Given the description of an element on the screen output the (x, y) to click on. 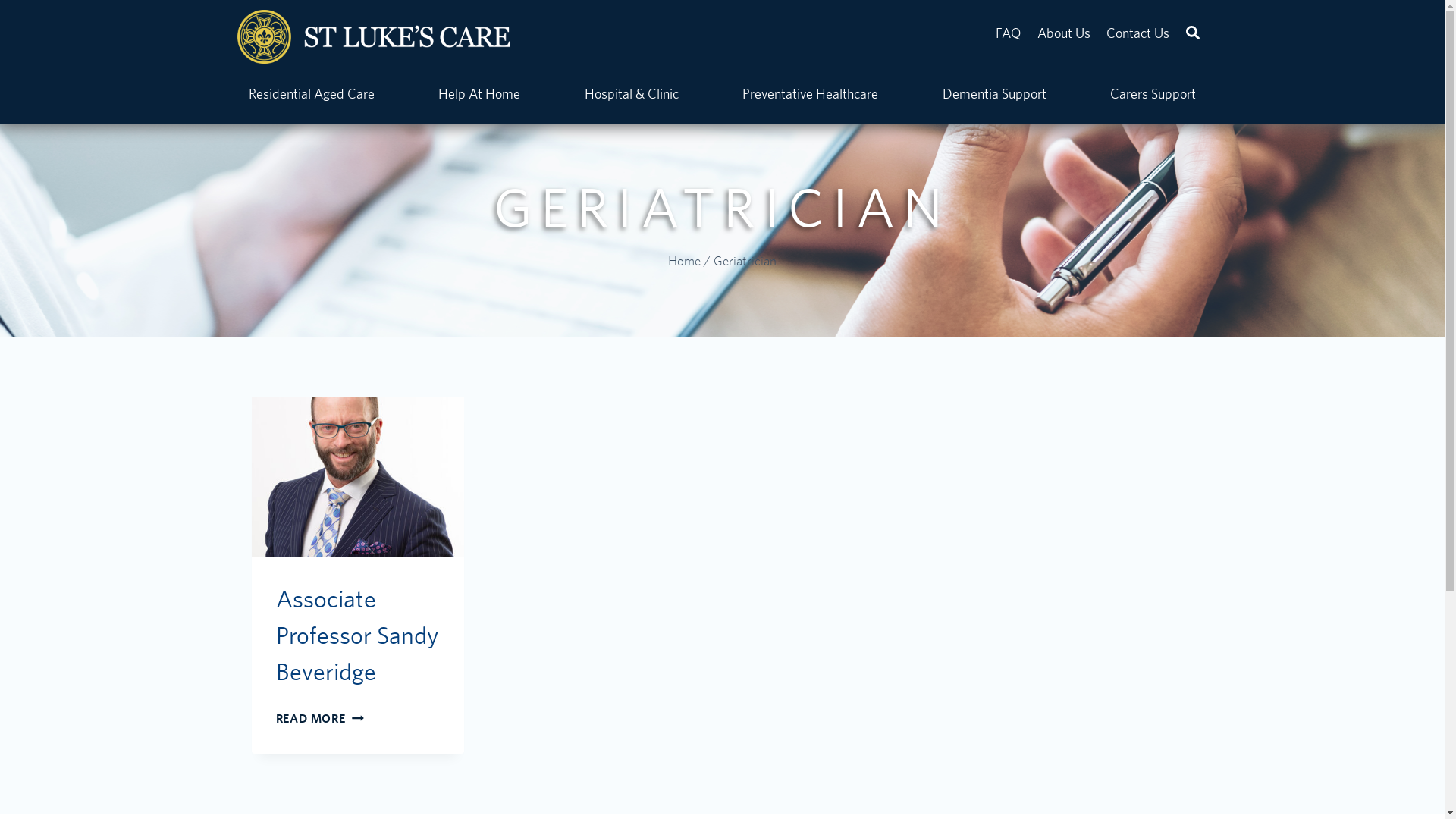
Help At Home Element type: text (479, 94)
READ MORE
ASSOCIATE PROFESSOR SANDY BEVERIDGE Element type: text (320, 718)
FAQ Element type: text (1008, 33)
Dementia Support Element type: text (993, 94)
About Us Element type: text (1063, 33)
Residential Aged Care Element type: text (311, 94)
Hospital & Clinic Element type: text (630, 94)
Contact Us Element type: text (1137, 33)
Preventative Healthcare Element type: text (810, 94)
Associate Professor Sandy Beveridge Element type: text (357, 634)
Home Element type: text (684, 260)
Carers Support Element type: text (1153, 94)
